Given the description of an element on the screen output the (x, y) to click on. 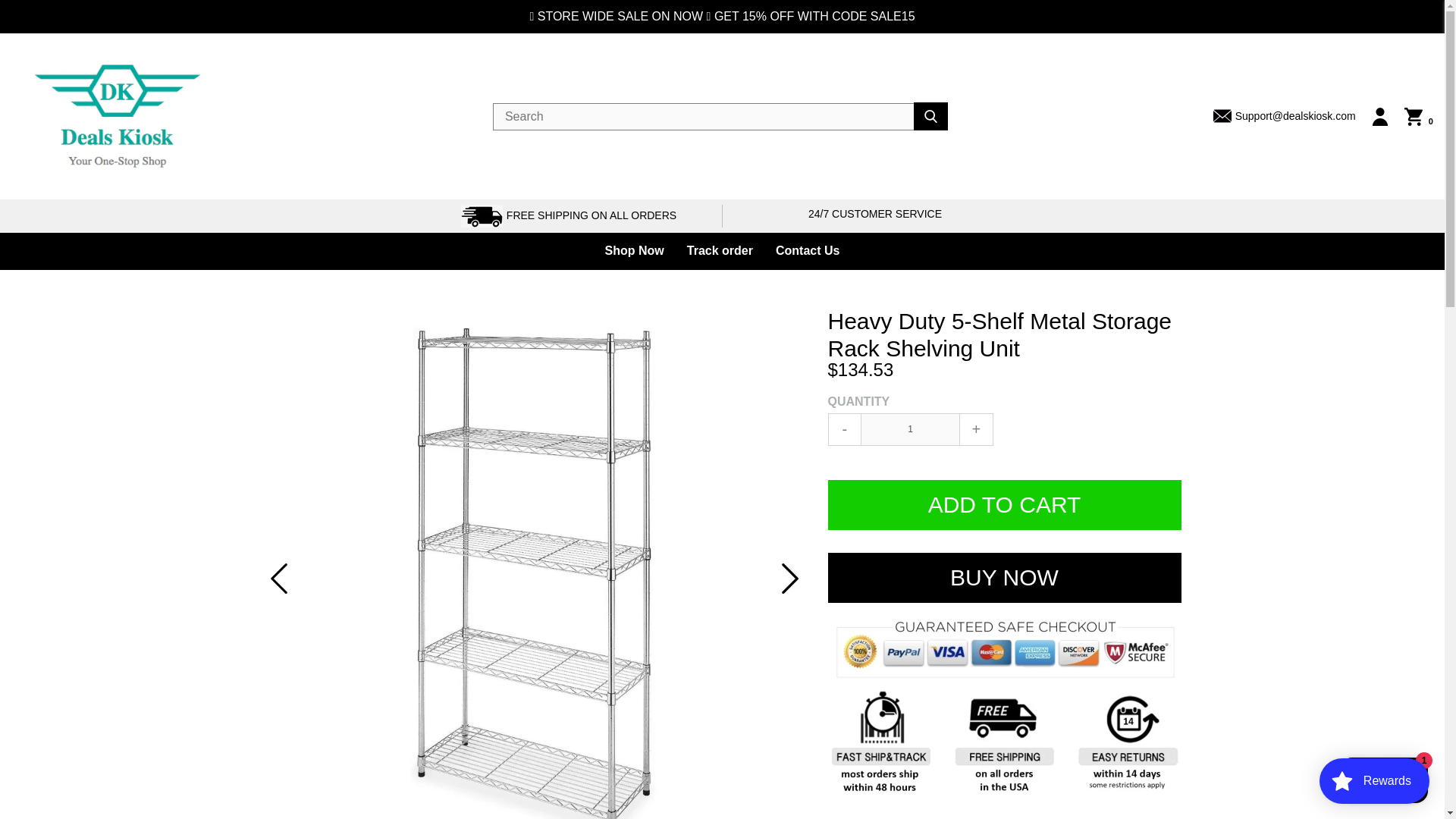
BUY NOW (1004, 577)
ADD TO CART (1004, 504)
Contact Us (807, 251)
- (844, 429)
0 (1418, 116)
Track order (719, 251)
Shop Now (634, 251)
1 (909, 429)
Shopify online store chat (1383, 781)
